Given the description of an element on the screen output the (x, y) to click on. 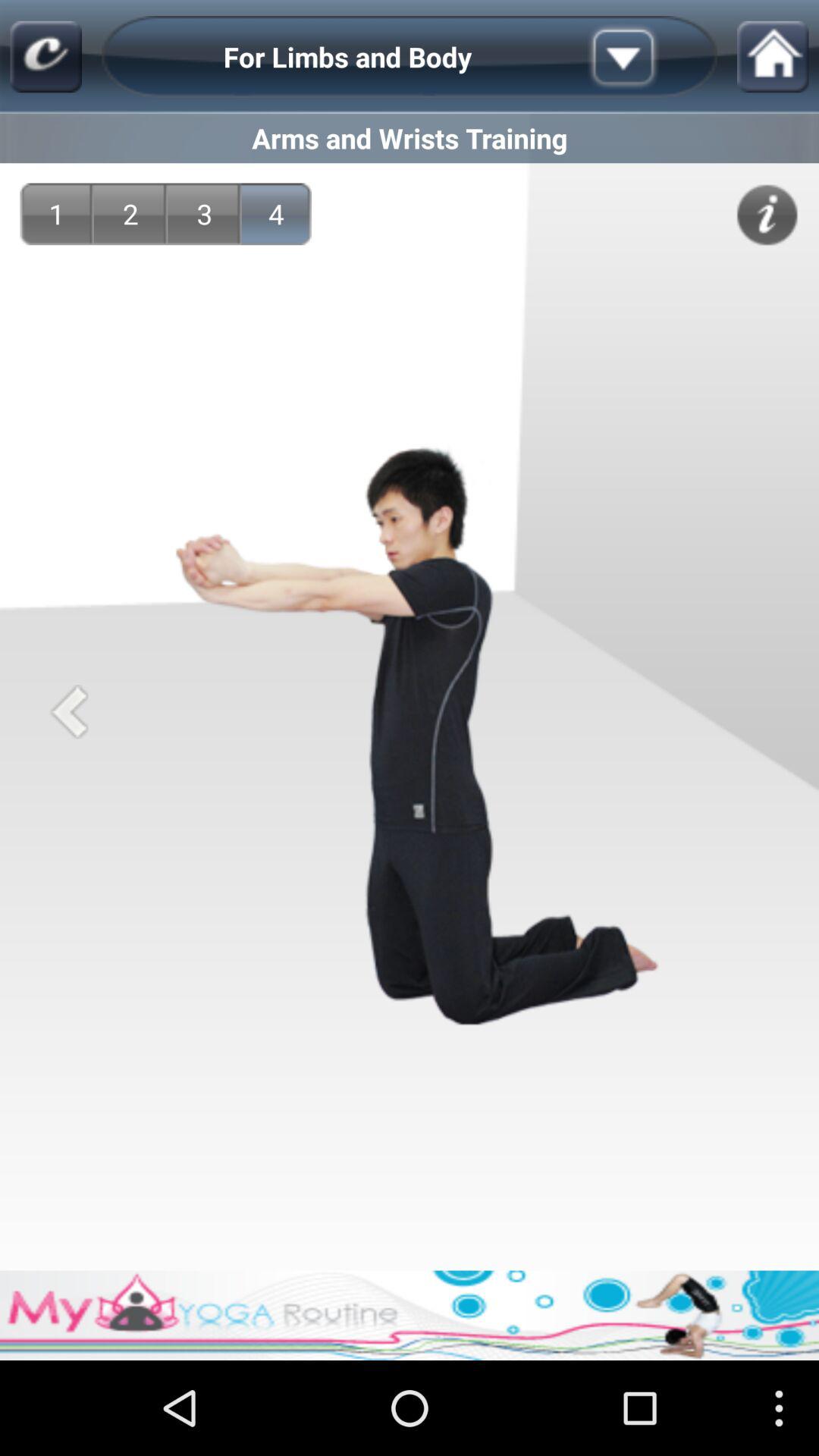
home button (772, 56)
